Given the description of an element on the screen output the (x, y) to click on. 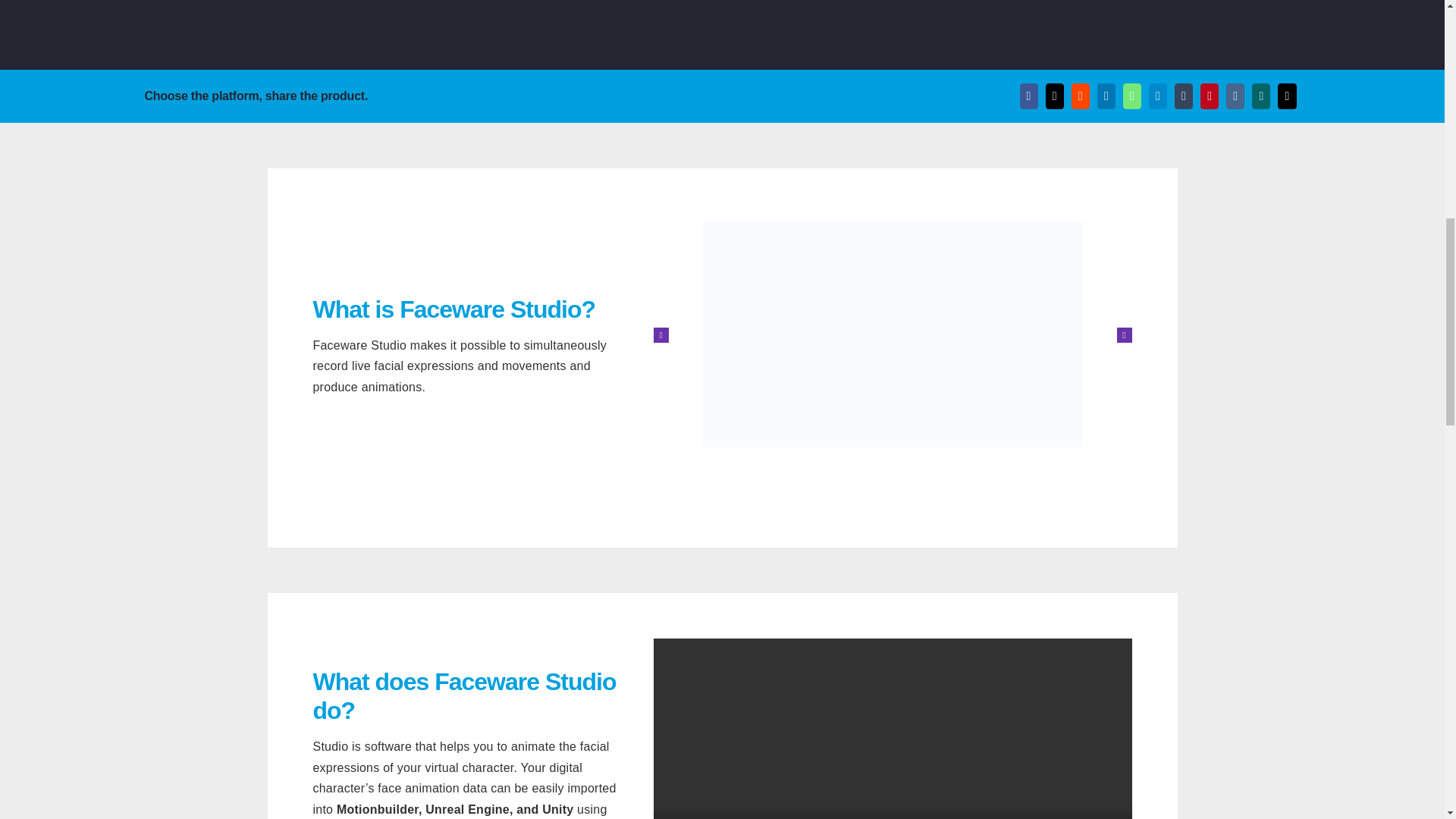
LinkedIn (1106, 96)
Telegram (1157, 96)
X (1054, 96)
Reddit (1080, 96)
Pinterest (1209, 96)
Tumblr (1183, 96)
WhatsApp (1131, 96)
Xing (1260, 96)
Facebook (1029, 96)
Vk (1235, 96)
